Given the description of an element on the screen output the (x, y) to click on. 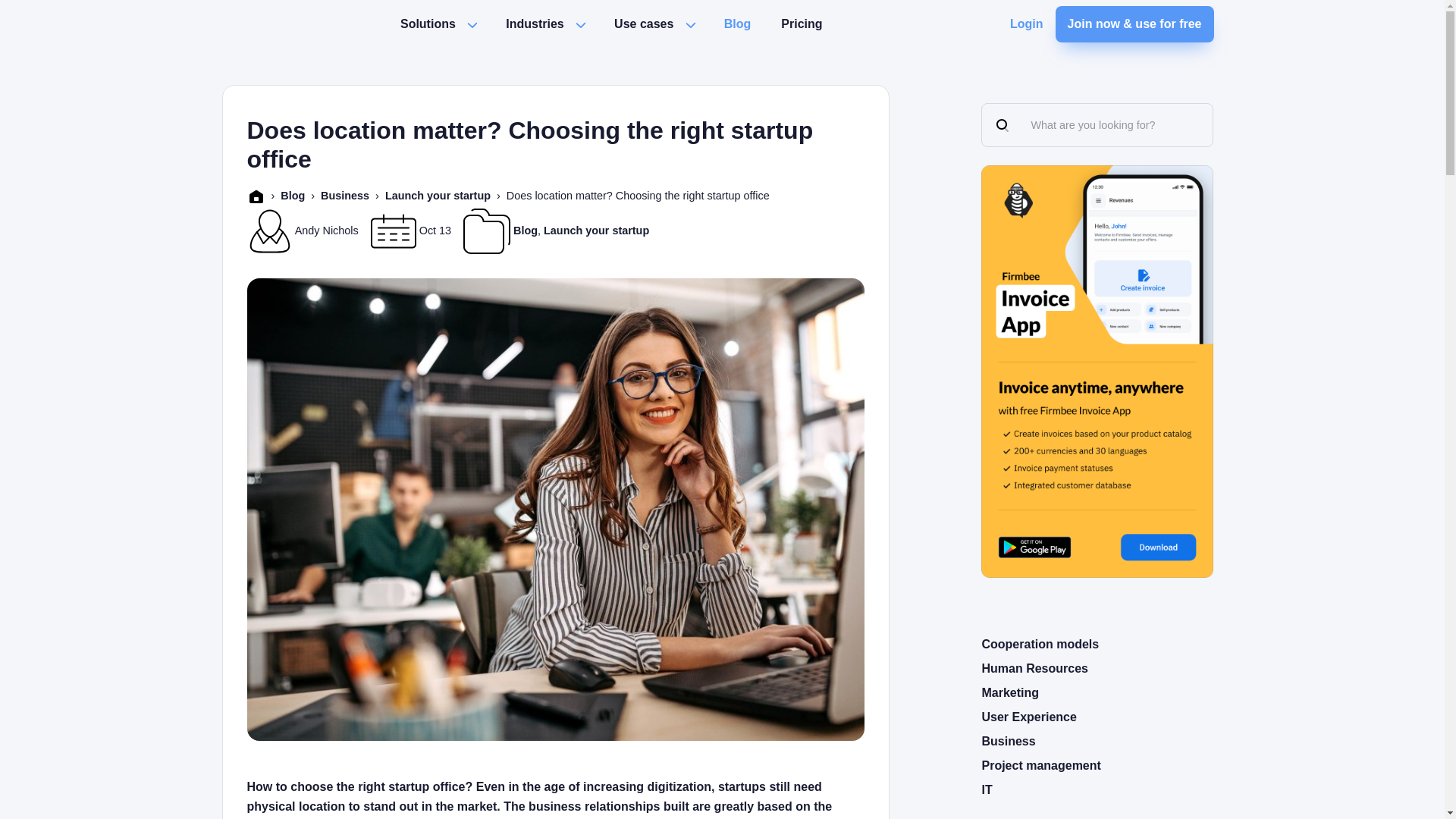
Business (344, 195)
Blog (525, 230)
Use cases (643, 24)
Launch your startup (437, 195)
Solutions (427, 24)
Blog (737, 24)
Login (1026, 23)
Pricing (801, 24)
Blog (292, 195)
